Given the description of an element on the screen output the (x, y) to click on. 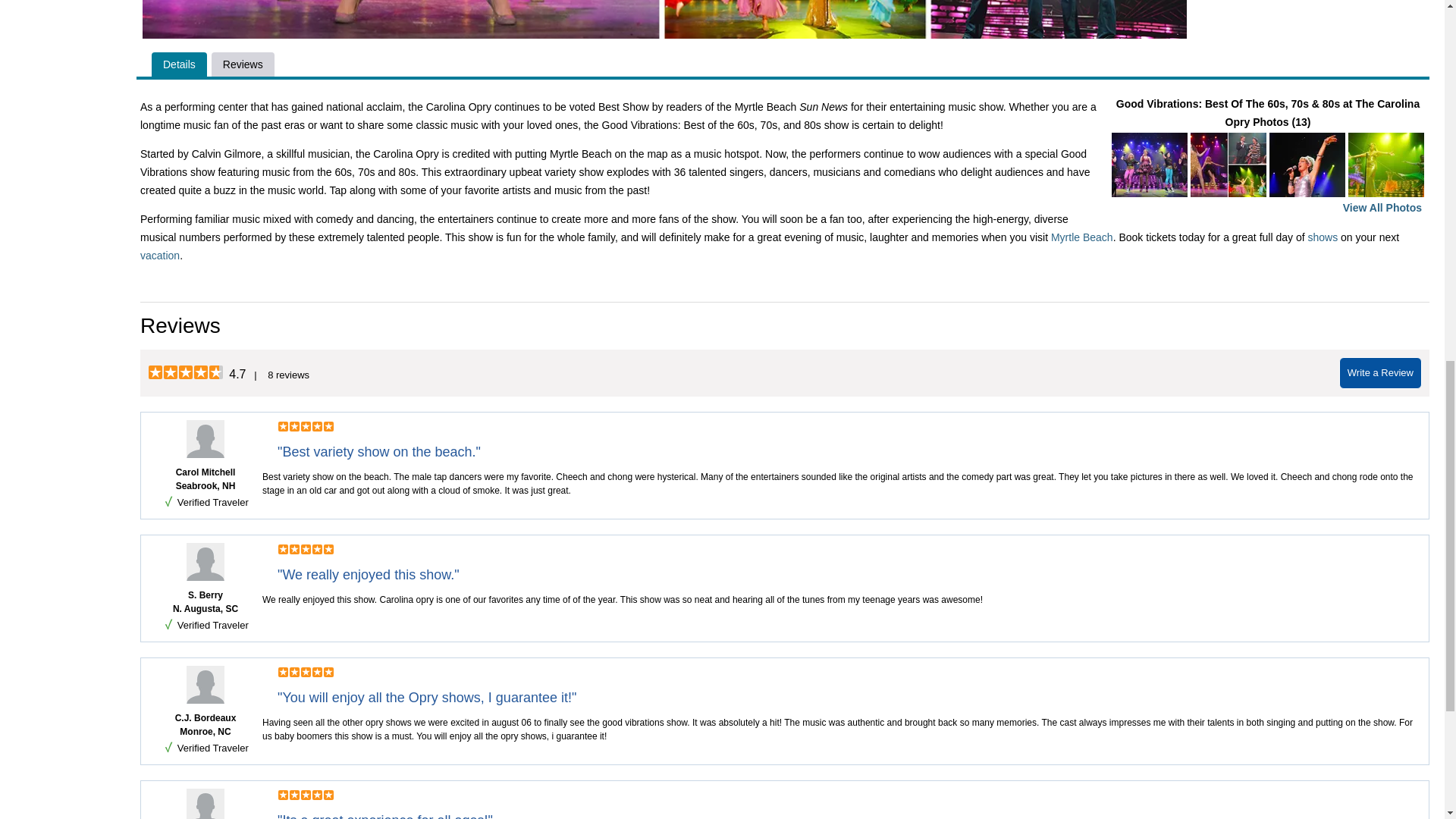
Details (179, 64)
Myrtle Beach (1082, 236)
shows (1322, 236)
View All Photos (1382, 207)
vacation (159, 255)
Write a Review (1380, 373)
Reviews (242, 64)
